Given the description of an element on the screen output the (x, y) to click on. 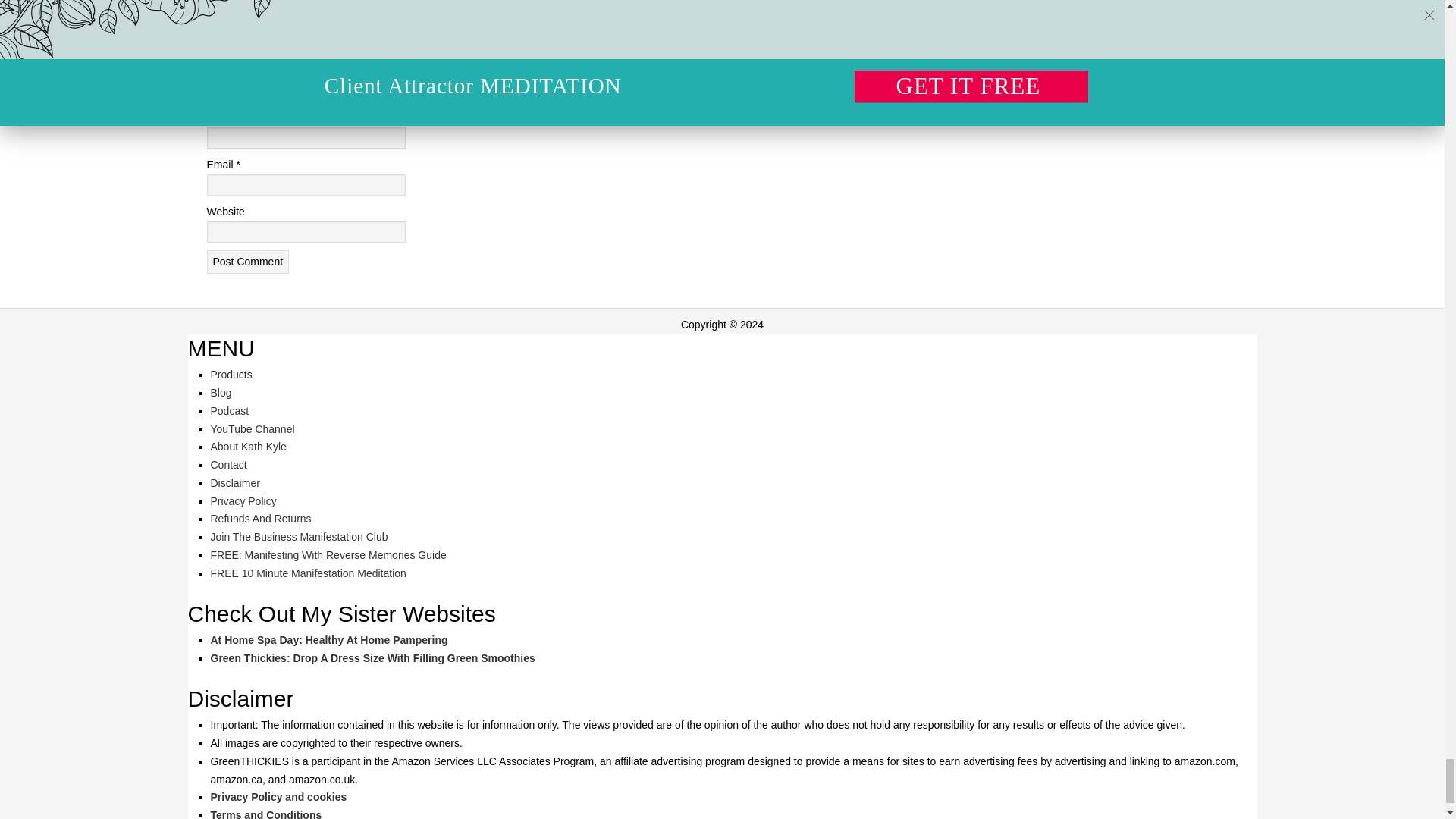
Post Comment (247, 261)
